Given the description of an element on the screen output the (x, y) to click on. 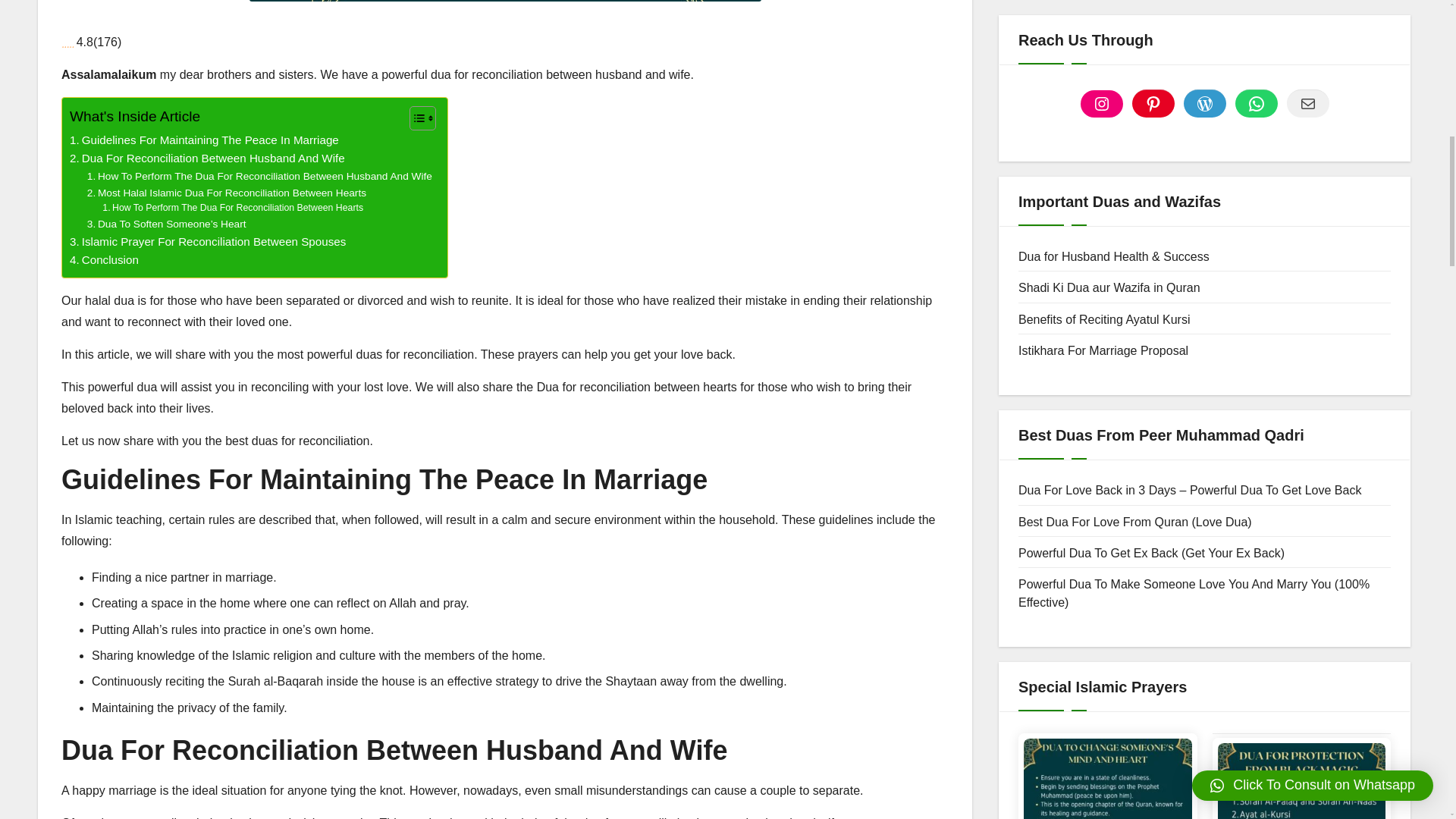
Conclusion (103, 259)
How To Perform The Dua For Reconciliation Between Hearts (231, 208)
Most Halal Islamic Dua For Reconciliation Between Hearts (226, 193)
Guidelines For Maintaining The Peace In Marriage (204, 140)
Islamic Prayer For Reconciliation Between Spouses (207, 241)
Dua For Reconciliation Between Husband And Wife (207, 158)
